Given the description of an element on the screen output the (x, y) to click on. 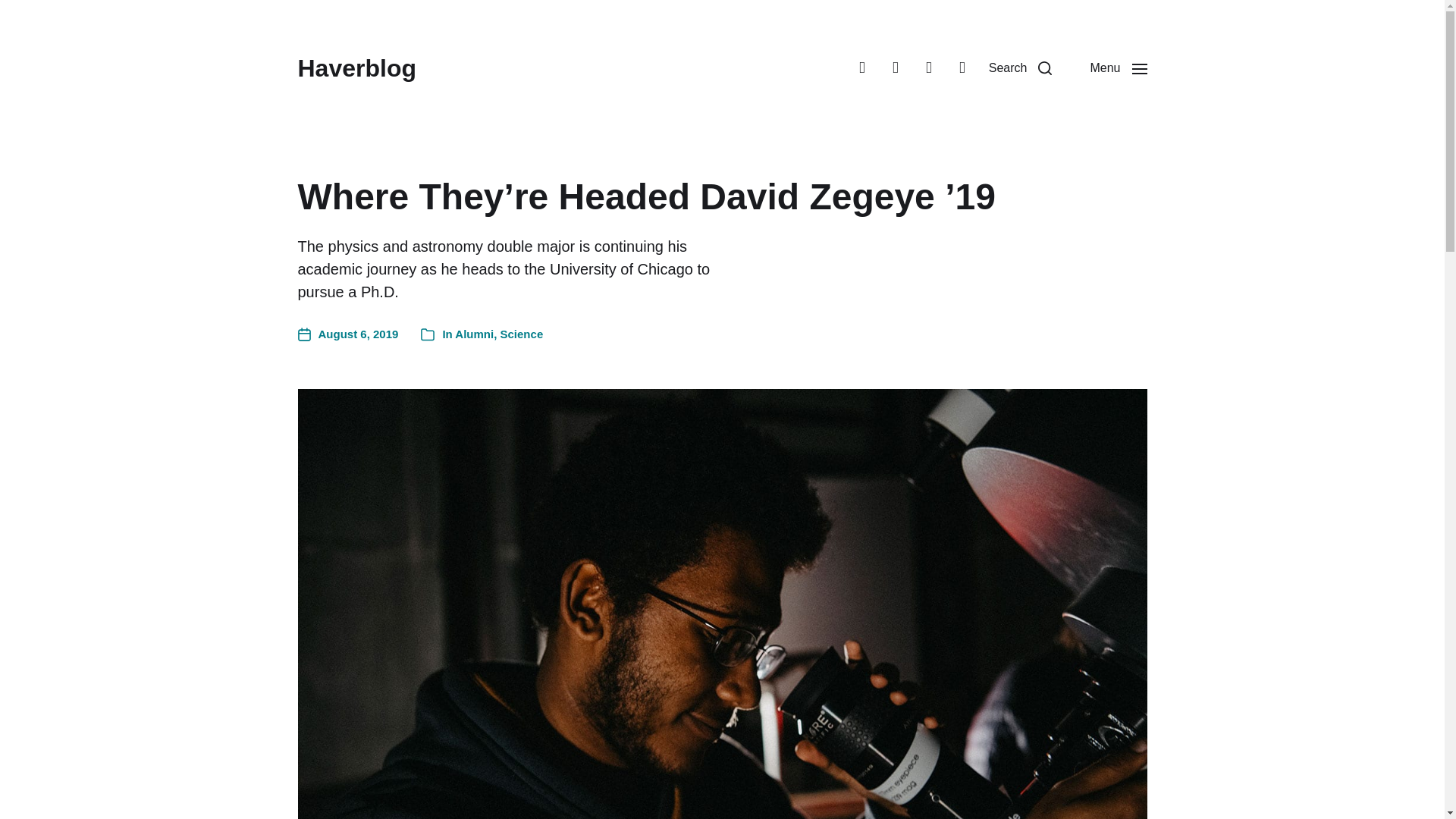
Menu (1118, 68)
Haverblog (355, 68)
Search (1020, 68)
August 6, 2019 (347, 334)
Alumni (473, 333)
Science (521, 333)
